Given the description of an element on the screen output the (x, y) to click on. 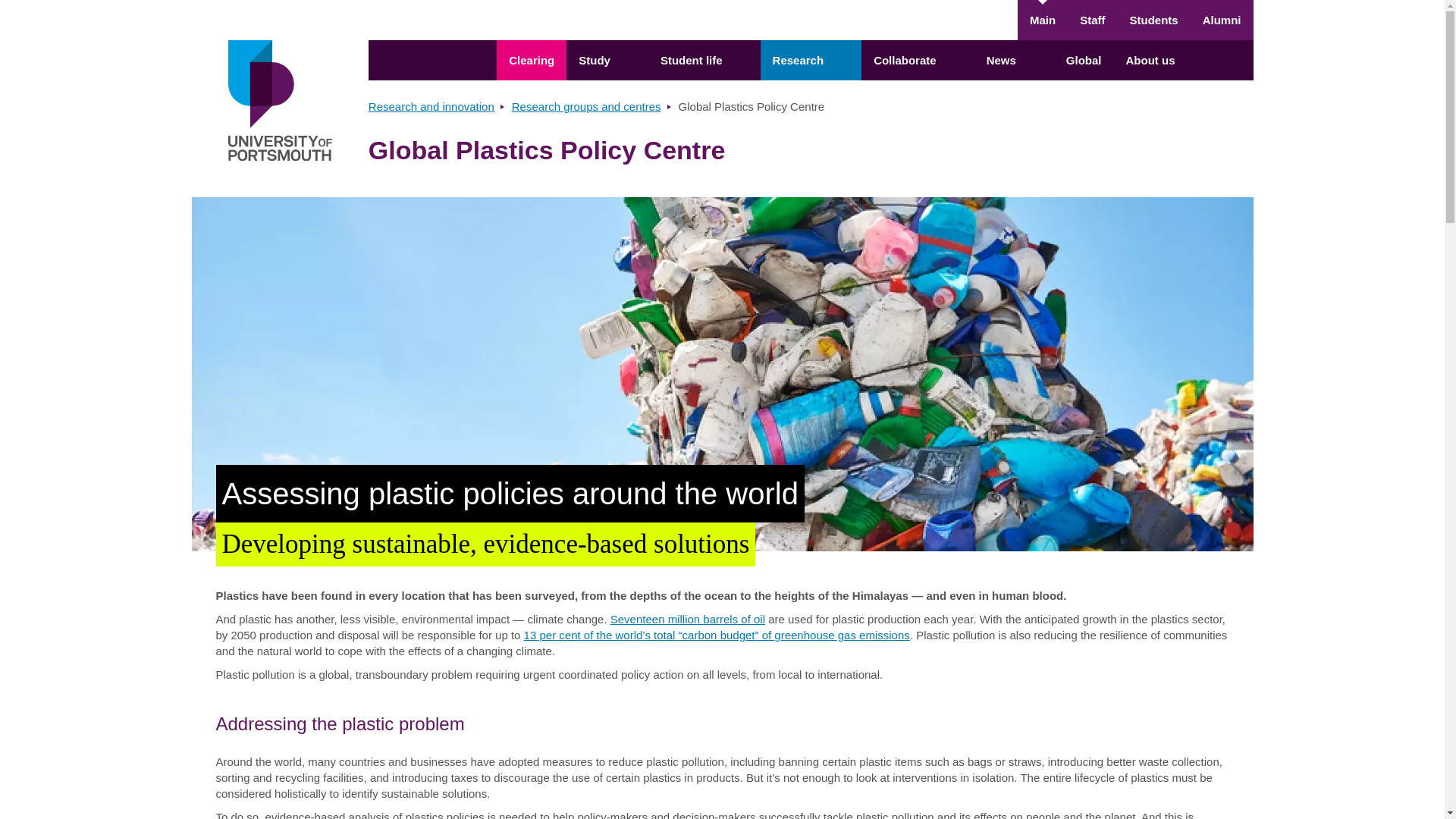
Staff (1091, 20)
Main (1042, 20)
Student life (703, 60)
Students (1152, 20)
Clearing (531, 60)
Study (606, 60)
Skip to main content (721, 9)
Alumni (1222, 20)
